Given the description of an element on the screen output the (x, y) to click on. 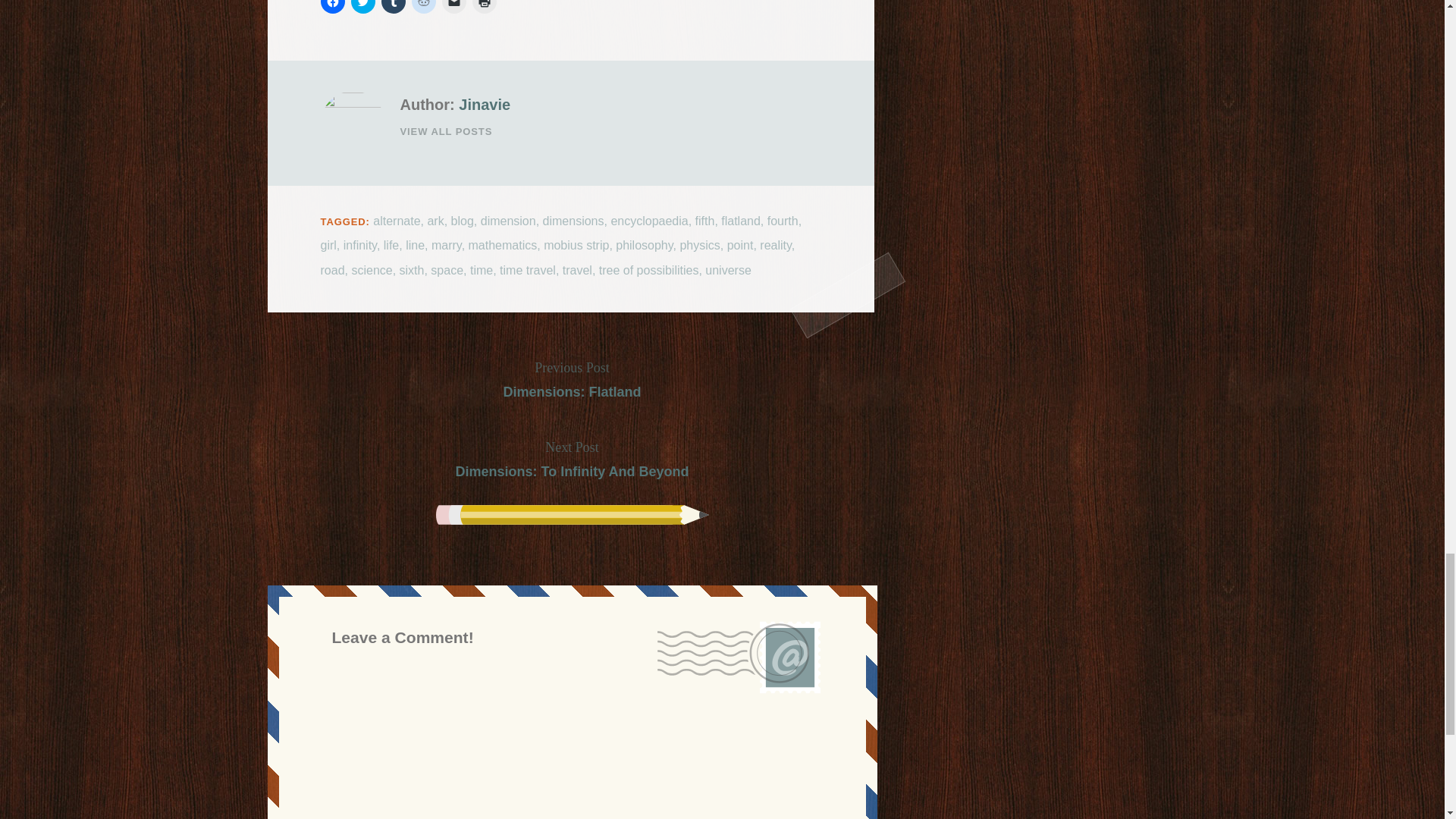
infinity (360, 245)
Comment Form (571, 750)
blog (462, 220)
girl (328, 245)
Click to print (483, 6)
flatland (740, 220)
dimension (507, 220)
Click to share on Facebook (331, 6)
VIEW ALL POSTS (610, 131)
encyclopaedia (648, 220)
Click to share on Twitter (362, 6)
Click to share on Reddit (422, 6)
alternate (396, 220)
ark (435, 220)
dimensions (573, 220)
